Given the description of an element on the screen output the (x, y) to click on. 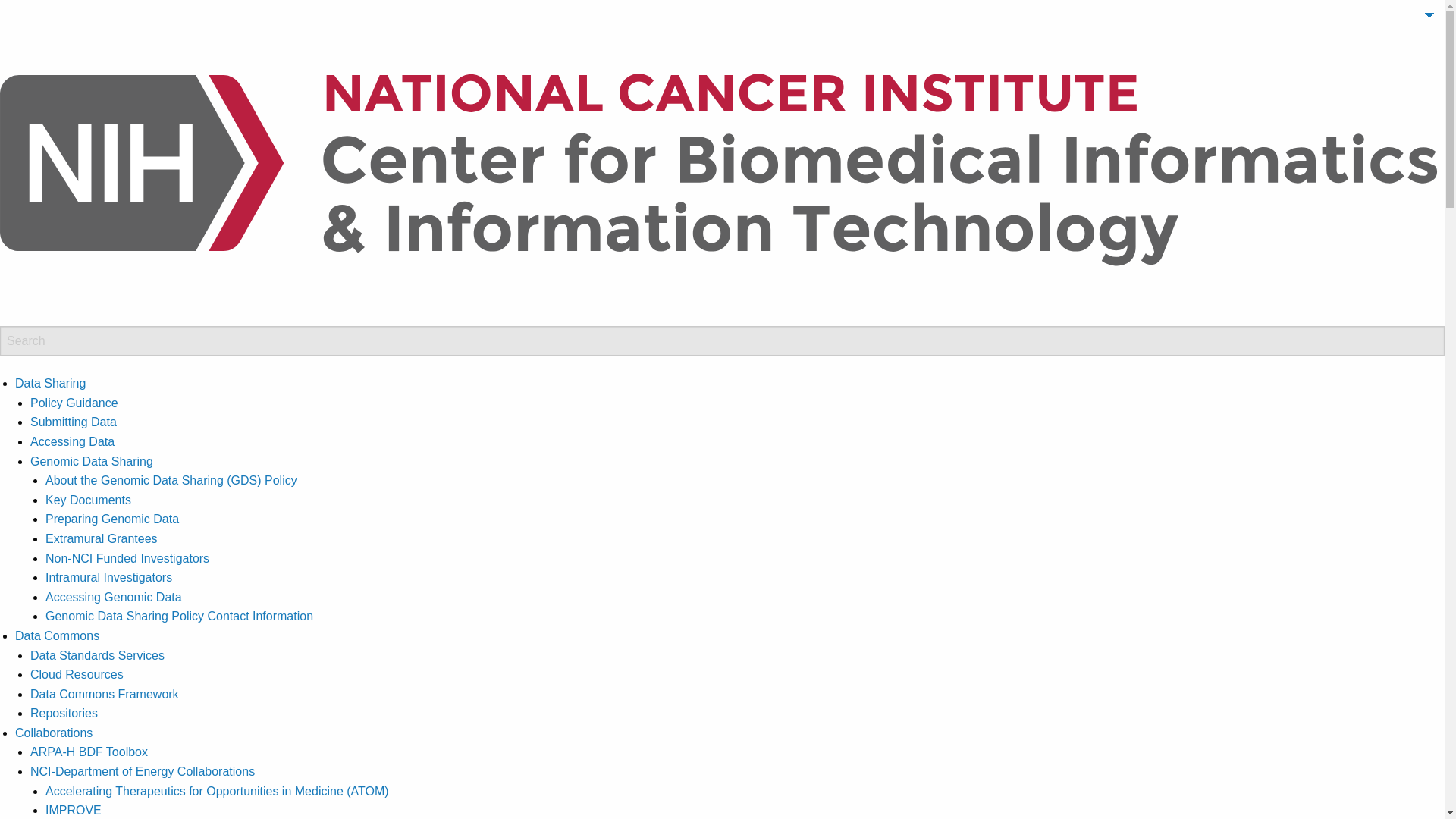
Data Sharing (49, 382)
IMPROVE (73, 809)
NCI-Department of Energy Collaborations (142, 771)
Accessing Genomic Data (113, 596)
Data Standards Services (97, 655)
Data Commons Framework (104, 694)
Accessing Data (72, 440)
Data Commons (56, 635)
Non-NCI Funded Investigators (127, 558)
